Given the description of an element on the screen output the (x, y) to click on. 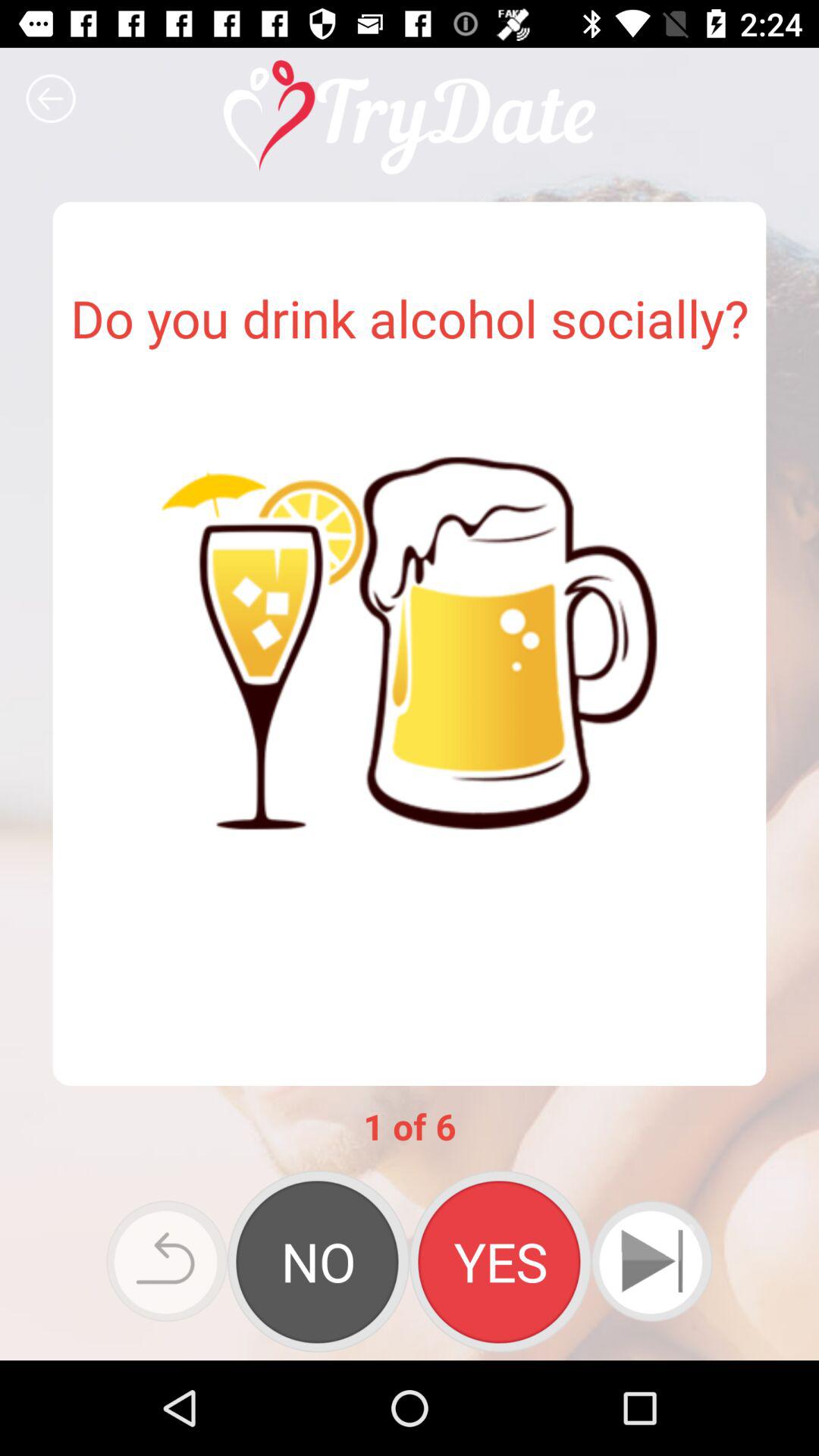
go to next (651, 1260)
